Given the description of an element on the screen output the (x, y) to click on. 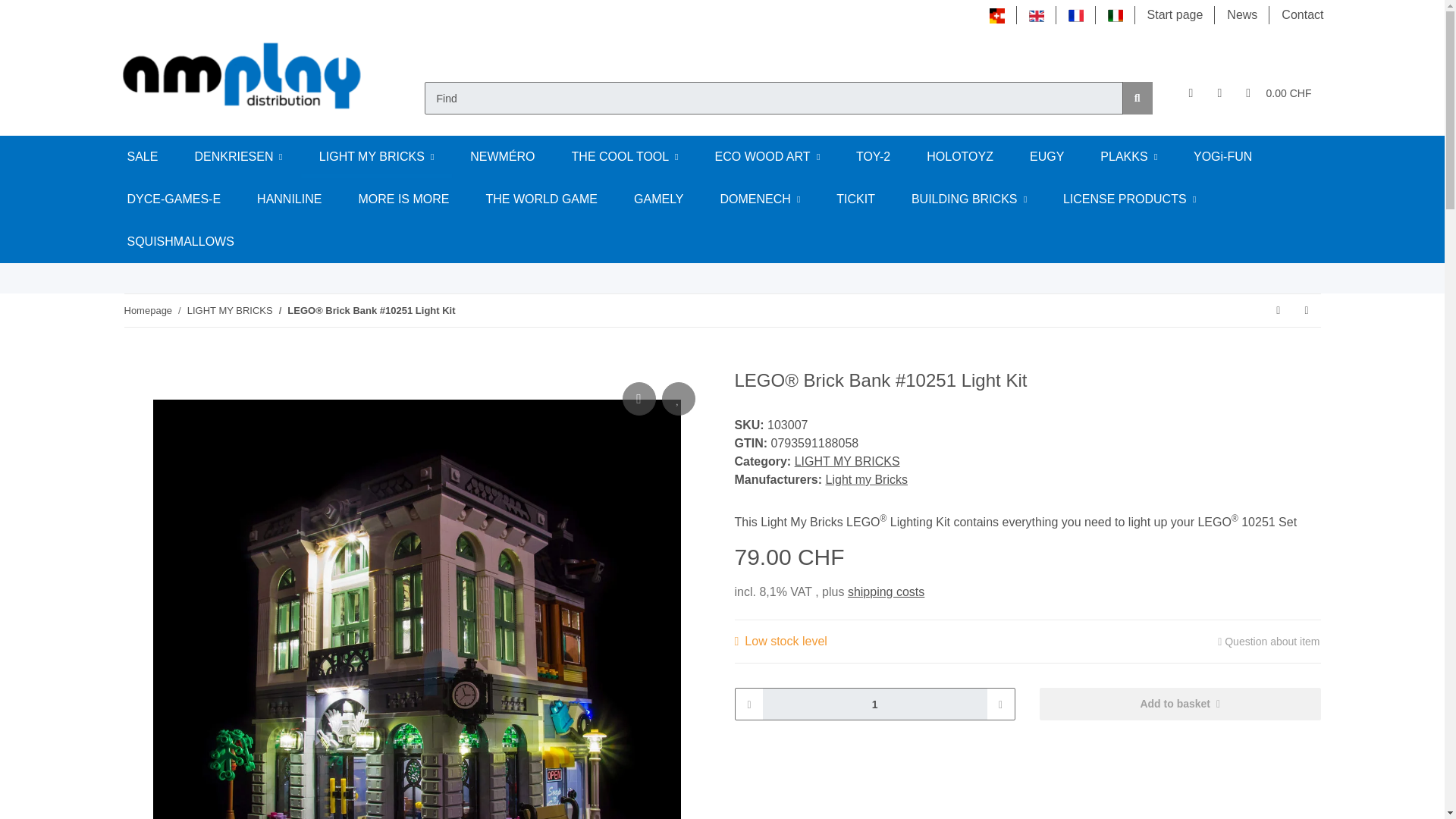
DENKRIESEN (237, 156)
LIGHT MY BRICKS (376, 156)
DENKRIESEN (237, 156)
LIGHT MY BRICKS (376, 156)
EUGY (1046, 156)
amplay AG (242, 75)
LIGHT MY BRICKS (376, 156)
DOMENECH (759, 199)
SALE (142, 156)
THE COOL TOOL (625, 156)
